Given the description of an element on the screen output the (x, y) to click on. 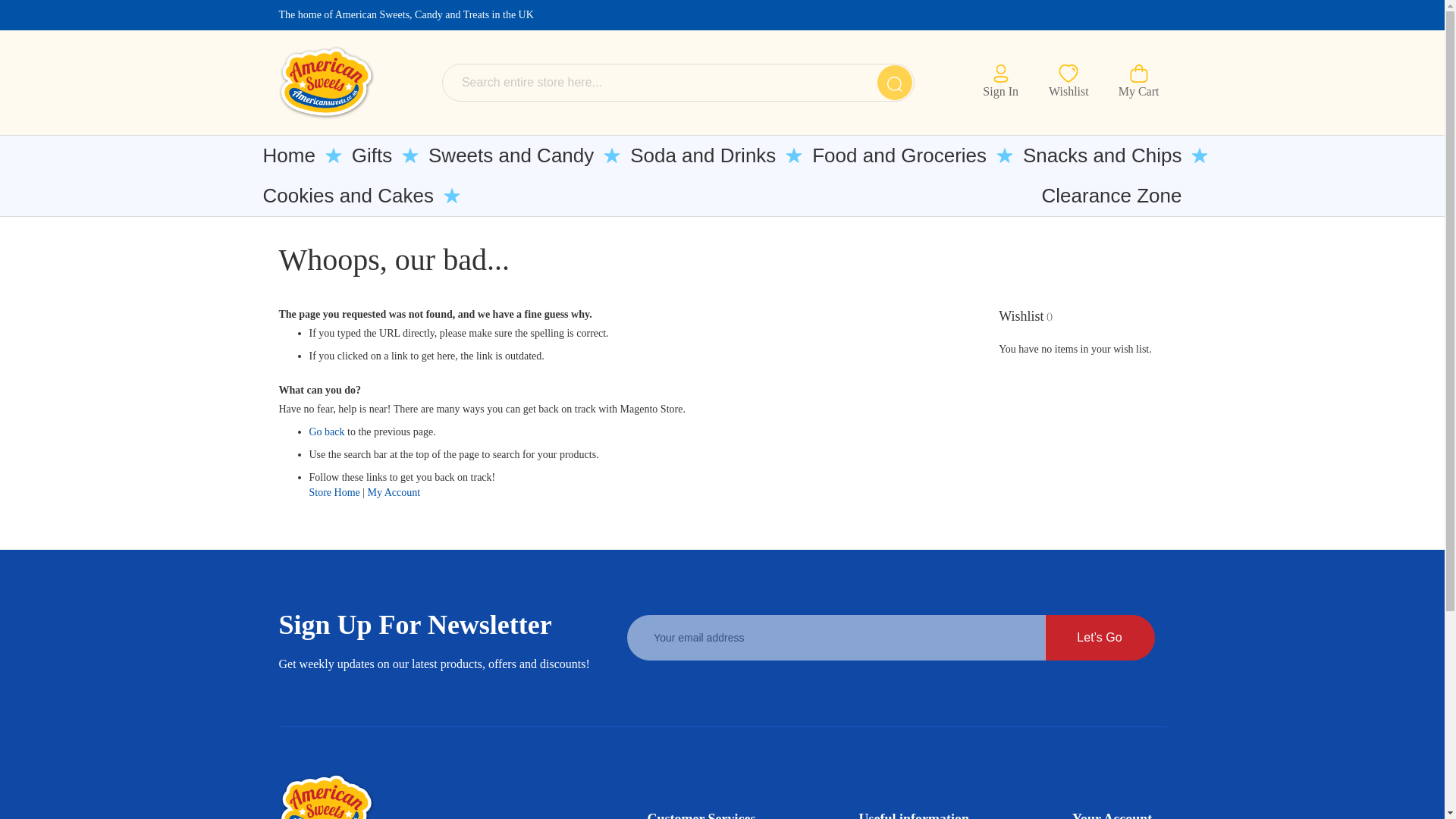
Sign In (999, 80)
My Cart (1138, 81)
Wishlist (1068, 80)
